Given the description of an element on the screen output the (x, y) to click on. 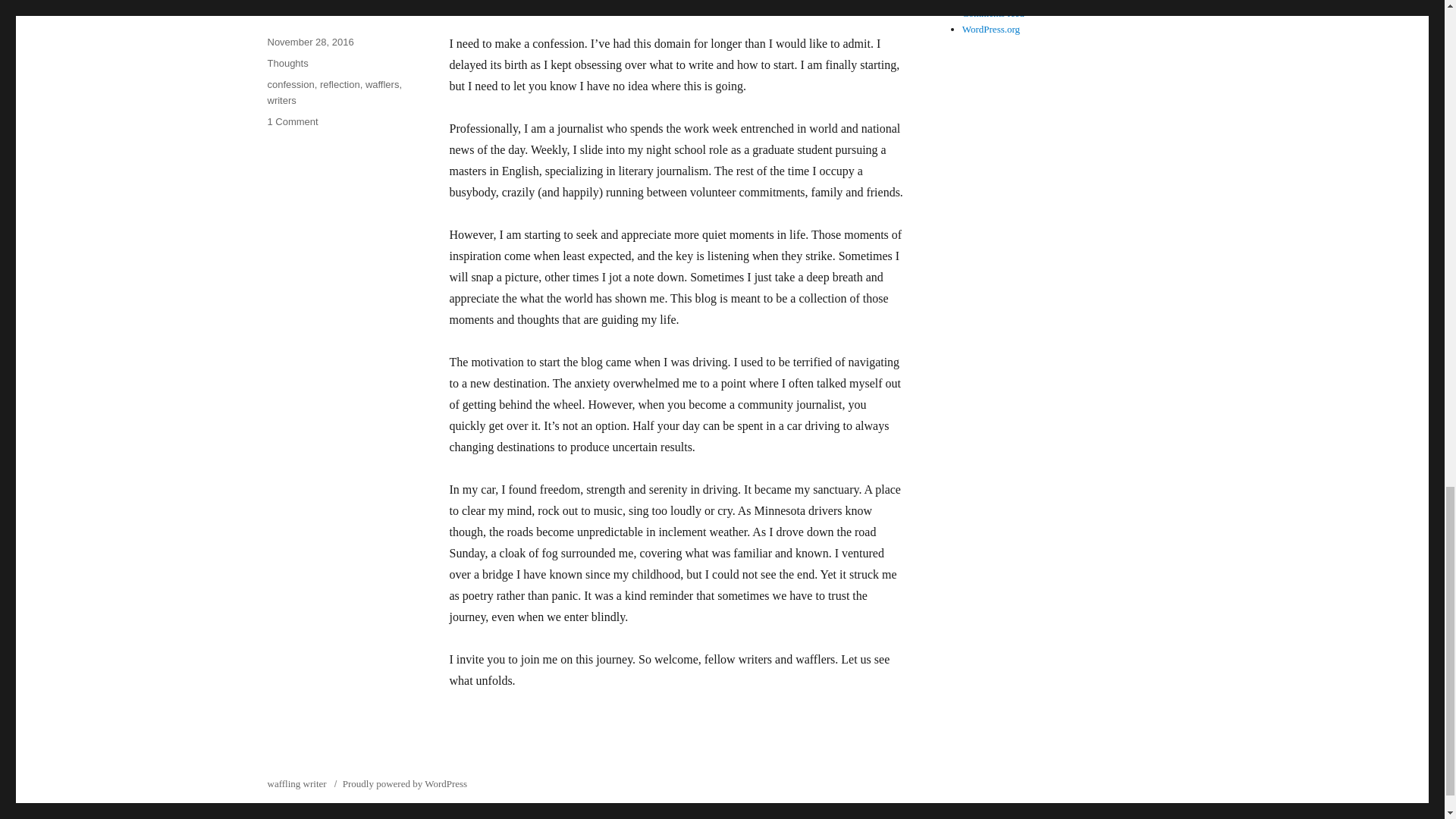
Proudly powered by WordPress (404, 783)
November 28, 2016 (309, 41)
Comments feed (993, 12)
writers (291, 121)
Entries feed (280, 100)
Thoughts (985, 1)
waffling writer (286, 62)
wafflers (297, 783)
WordPress.org (381, 84)
reflection (991, 29)
confession (339, 84)
